Given the description of an element on the screen output the (x, y) to click on. 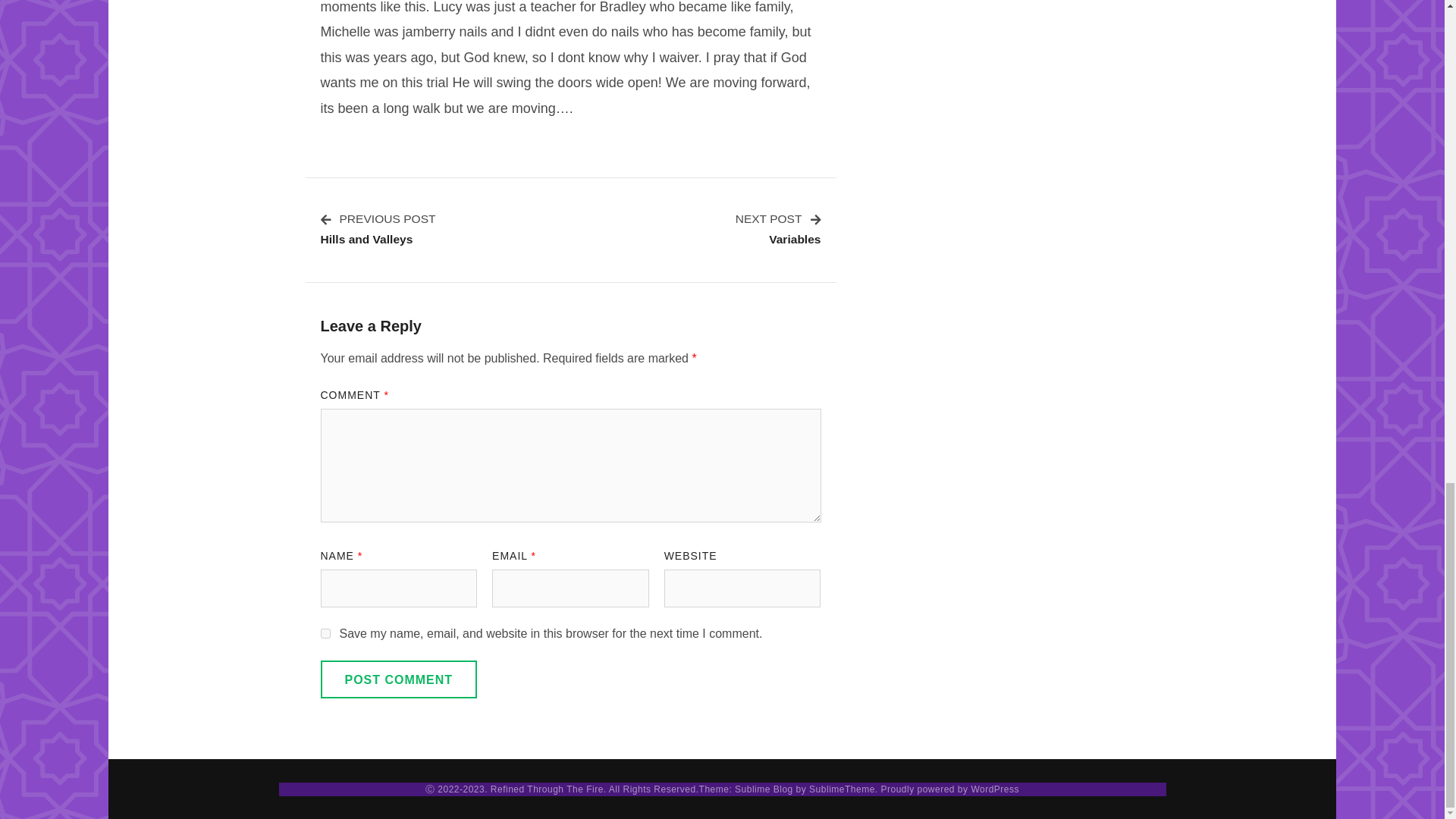
Post Comment (398, 679)
Post Comment (778, 228)
SublimeTheme (398, 679)
Proudly powered by WordPress (842, 788)
yes (377, 228)
